Given the description of an element on the screen output the (x, y) to click on. 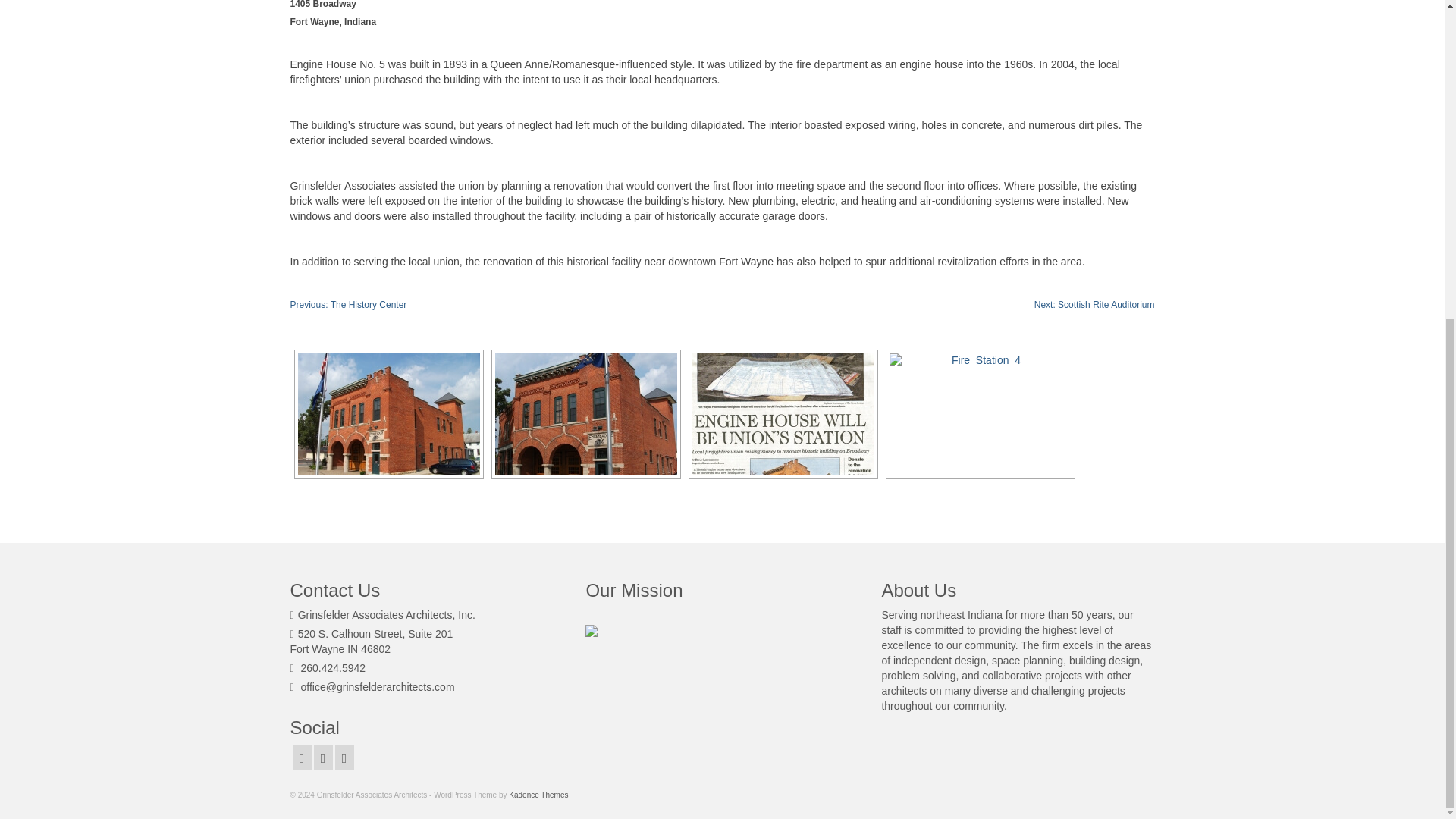
Previous: The History Center (347, 304)
Scottish Rite Auditorium (1093, 304)
Next: Scottish Rite Auditorium (1093, 304)
Kadence Themes (537, 795)
The History Center (347, 304)
